Given the description of an element on the screen output the (x, y) to click on. 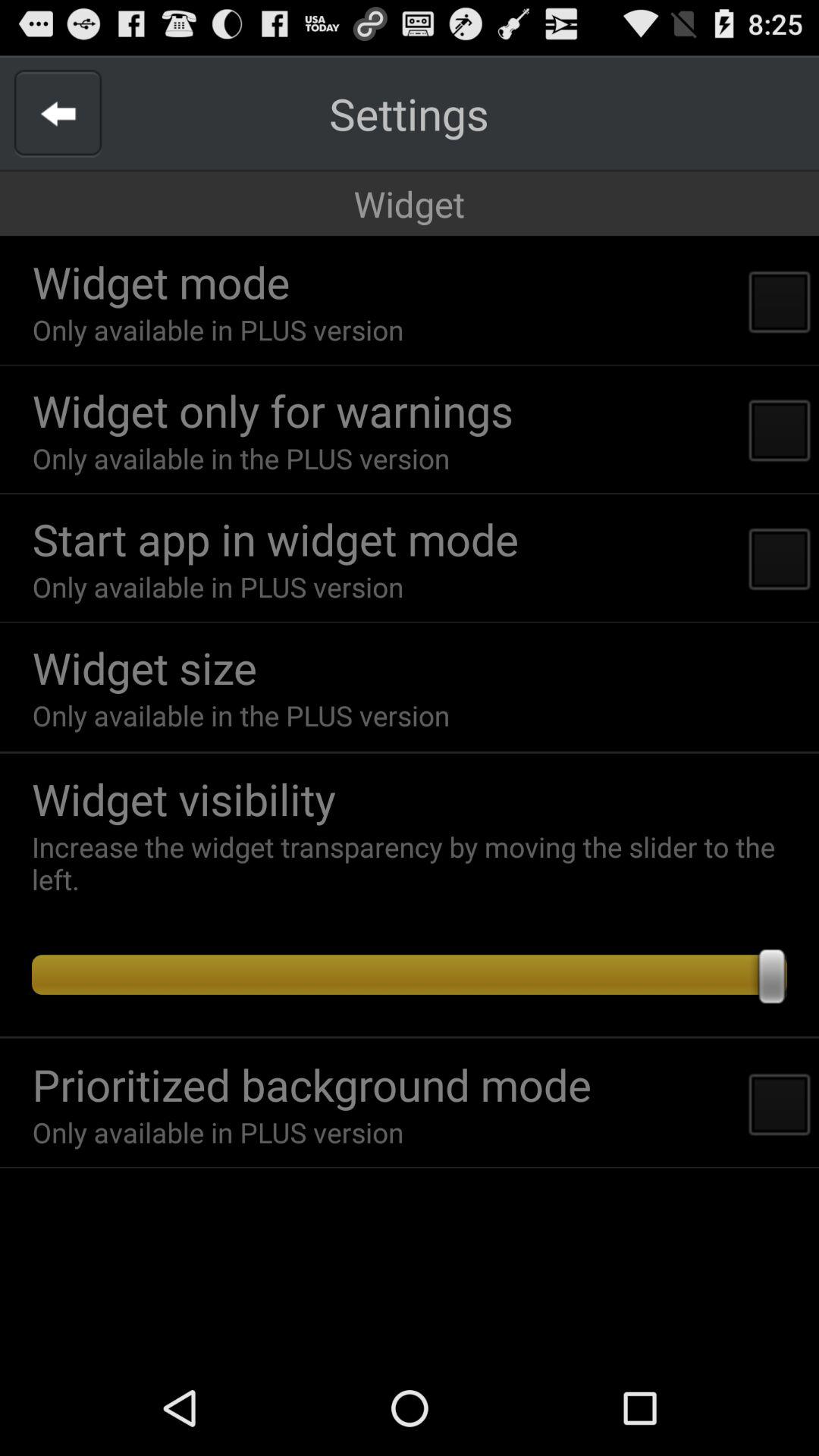
turn on start app in app (275, 538)
